Given the description of an element on the screen output the (x, y) to click on. 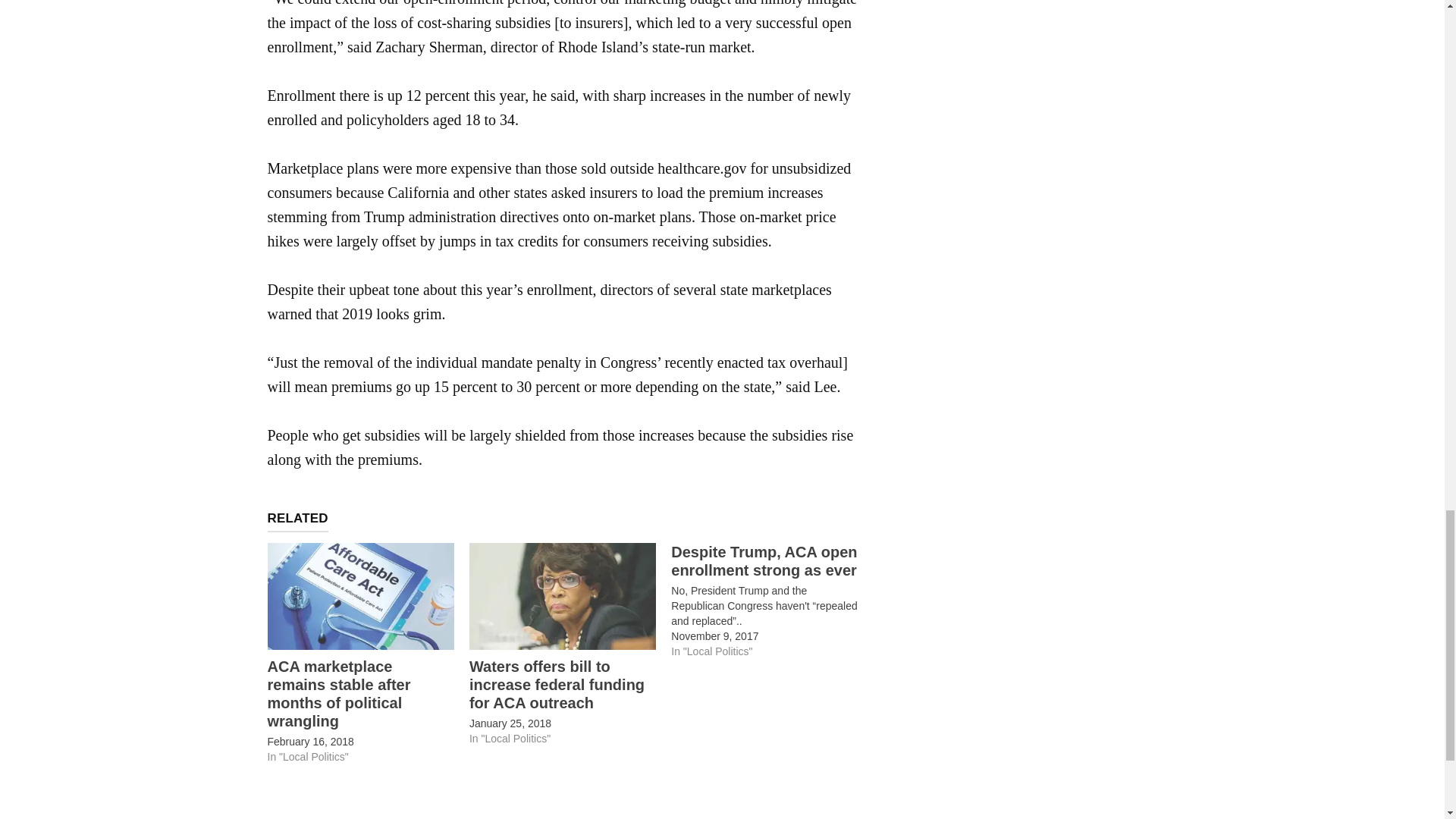
Despite Trump, ACA open enrollment strong as ever (771, 600)
Despite Trump, ACA open enrollment strong as ever (764, 560)
